Given the description of an element on the screen output the (x, y) to click on. 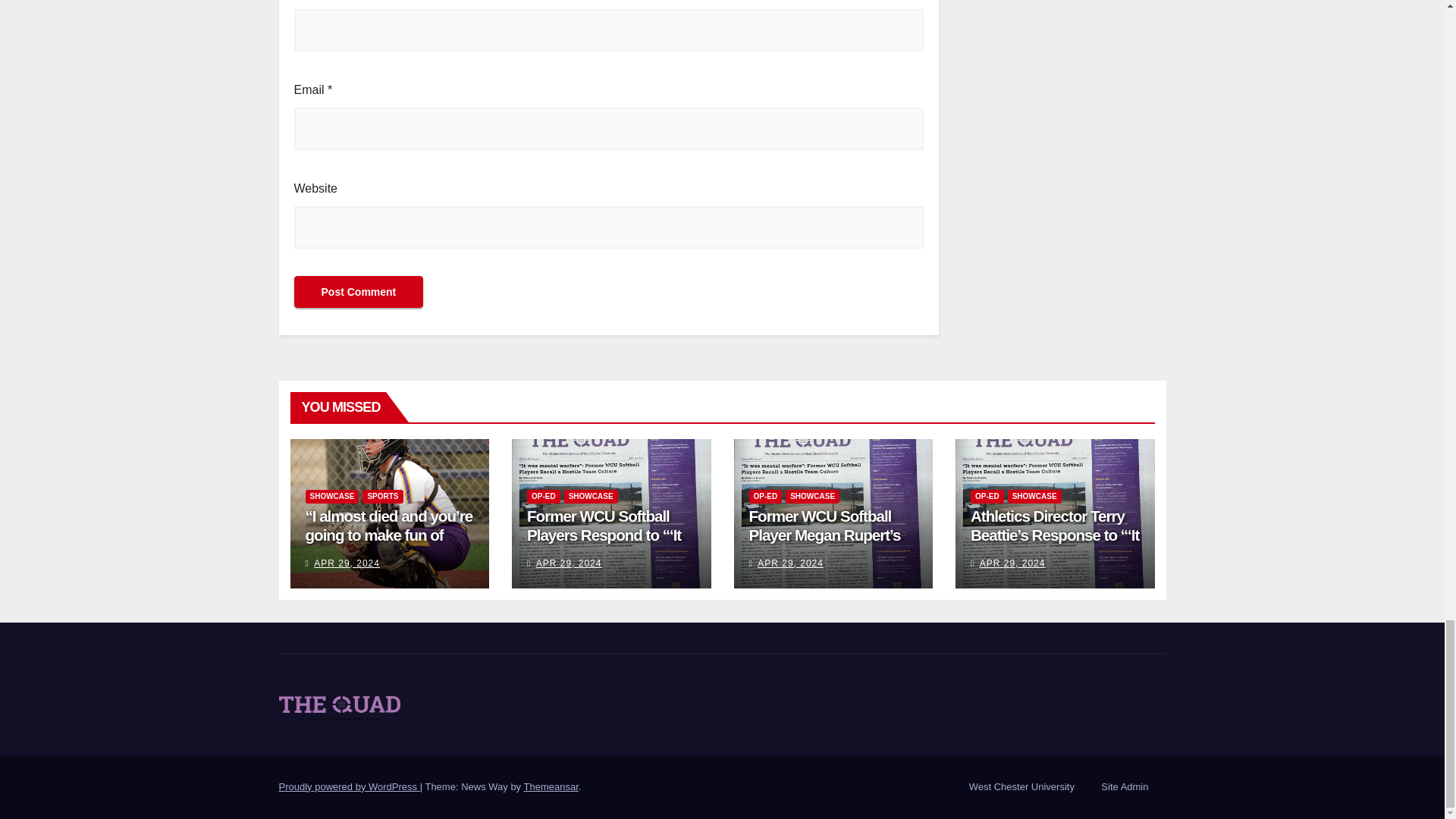
Post Comment (358, 291)
